Given the description of an element on the screen output the (x, y) to click on. 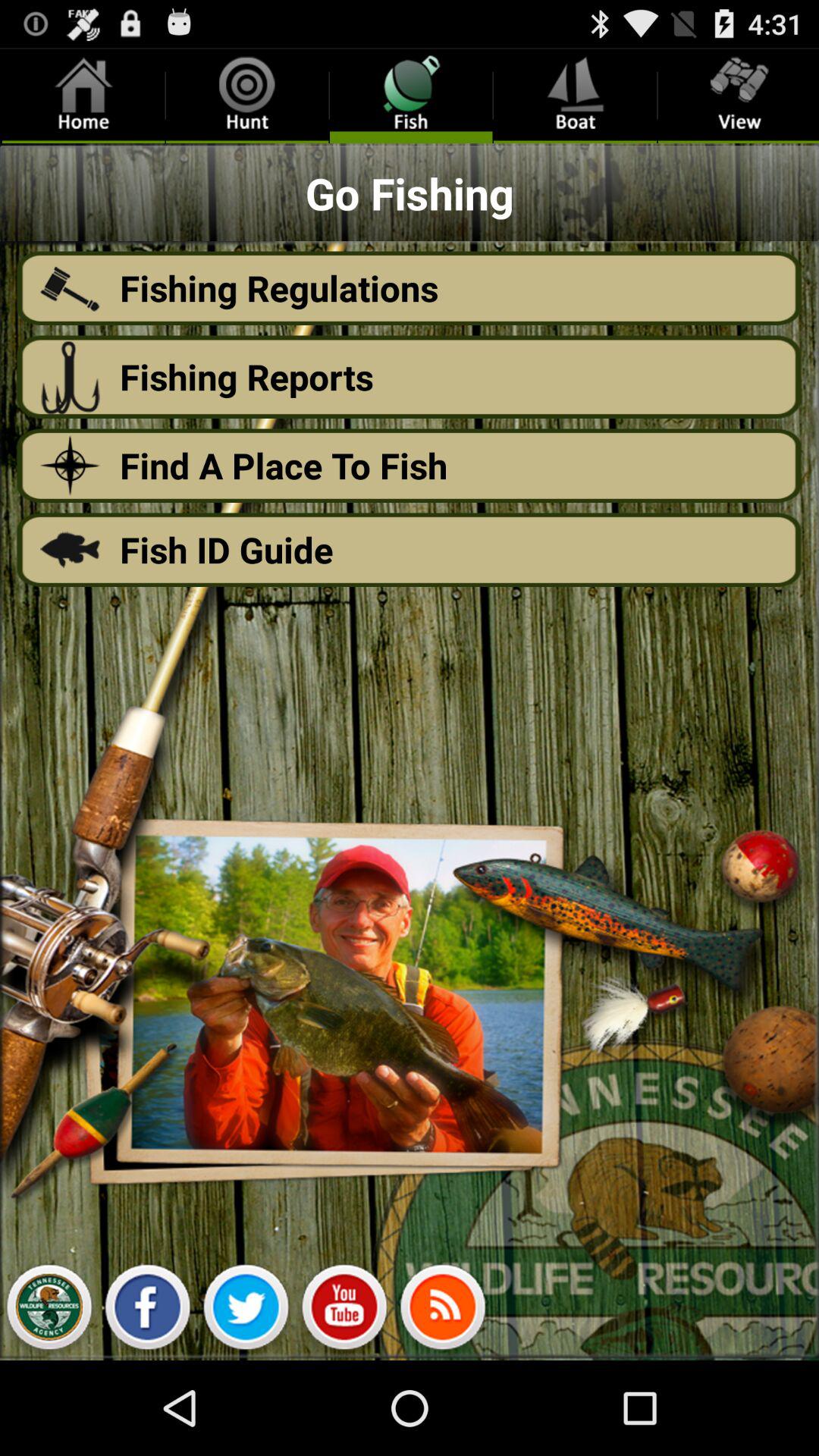
shows the facebook option (147, 1311)
